Given the description of an element on the screen output the (x, y) to click on. 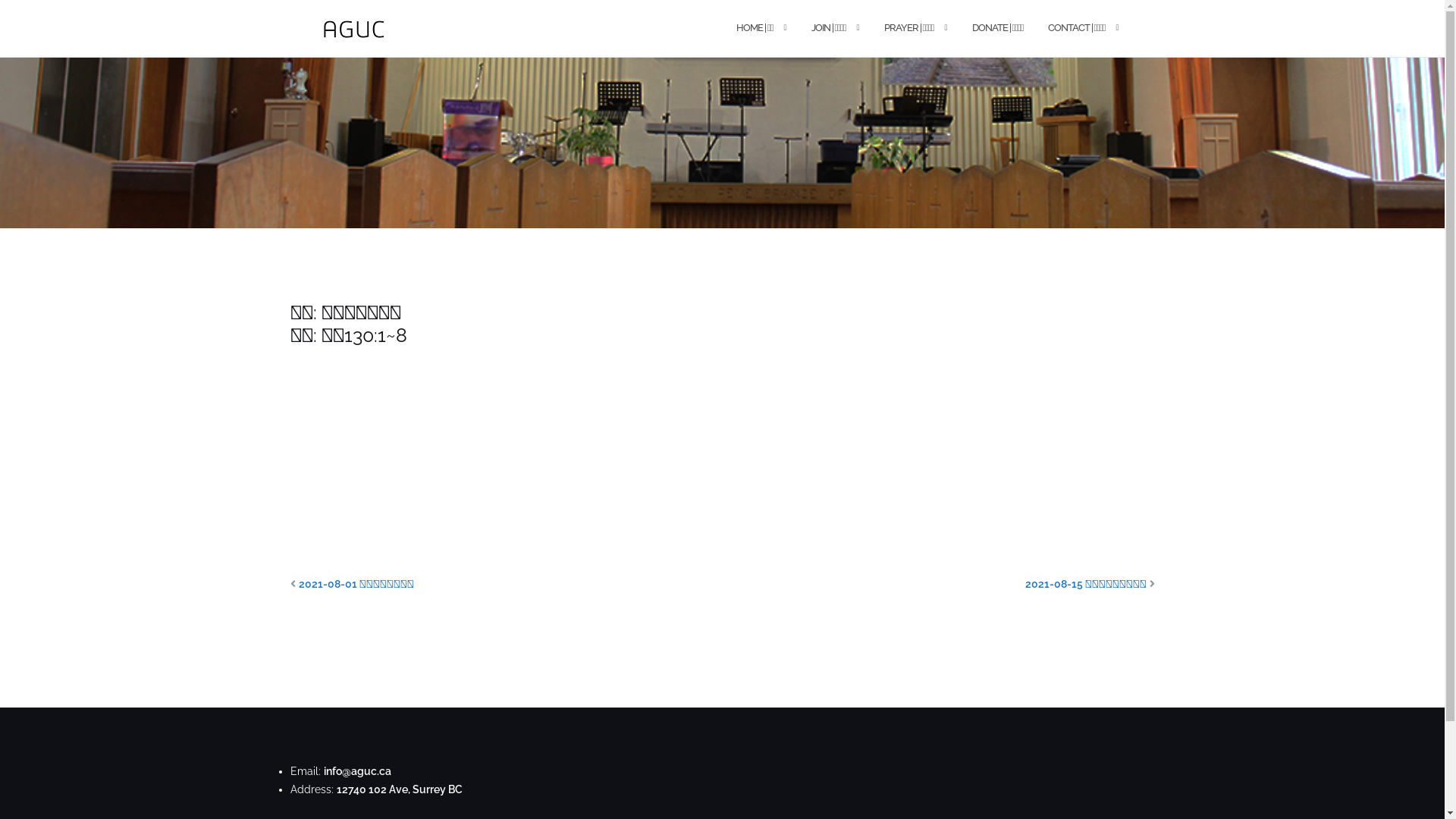
YouTube video player Element type: hover (471, 466)
12740 102 Ave, Surrey BC Element type: text (399, 789)
info@aguc.ca Element type: text (356, 771)
